Given the description of an element on the screen output the (x, y) to click on. 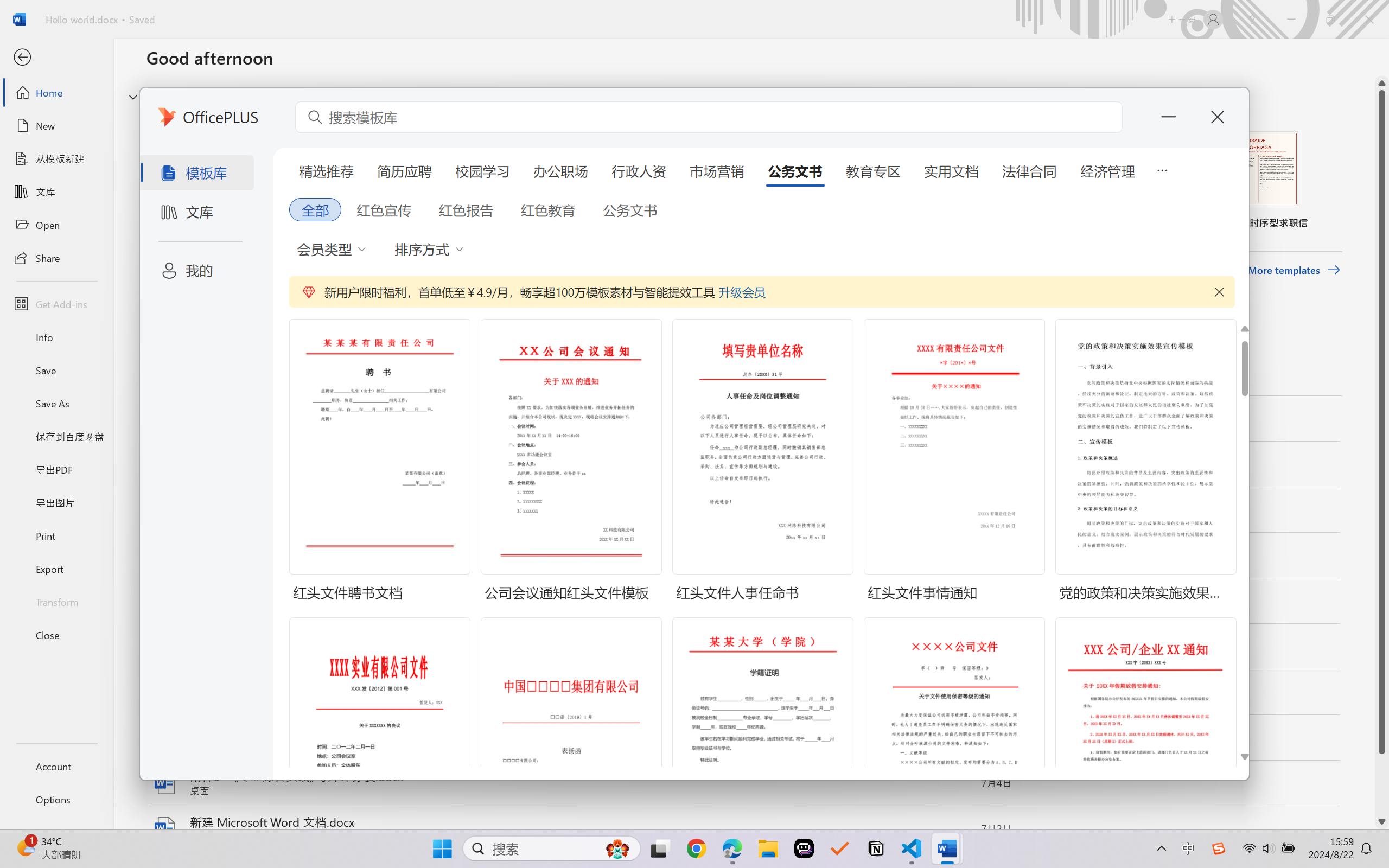
Save (56, 370)
Info (56, 337)
Transform (56, 601)
Save As (56, 403)
Options (56, 798)
